Given the description of an element on the screen output the (x, y) to click on. 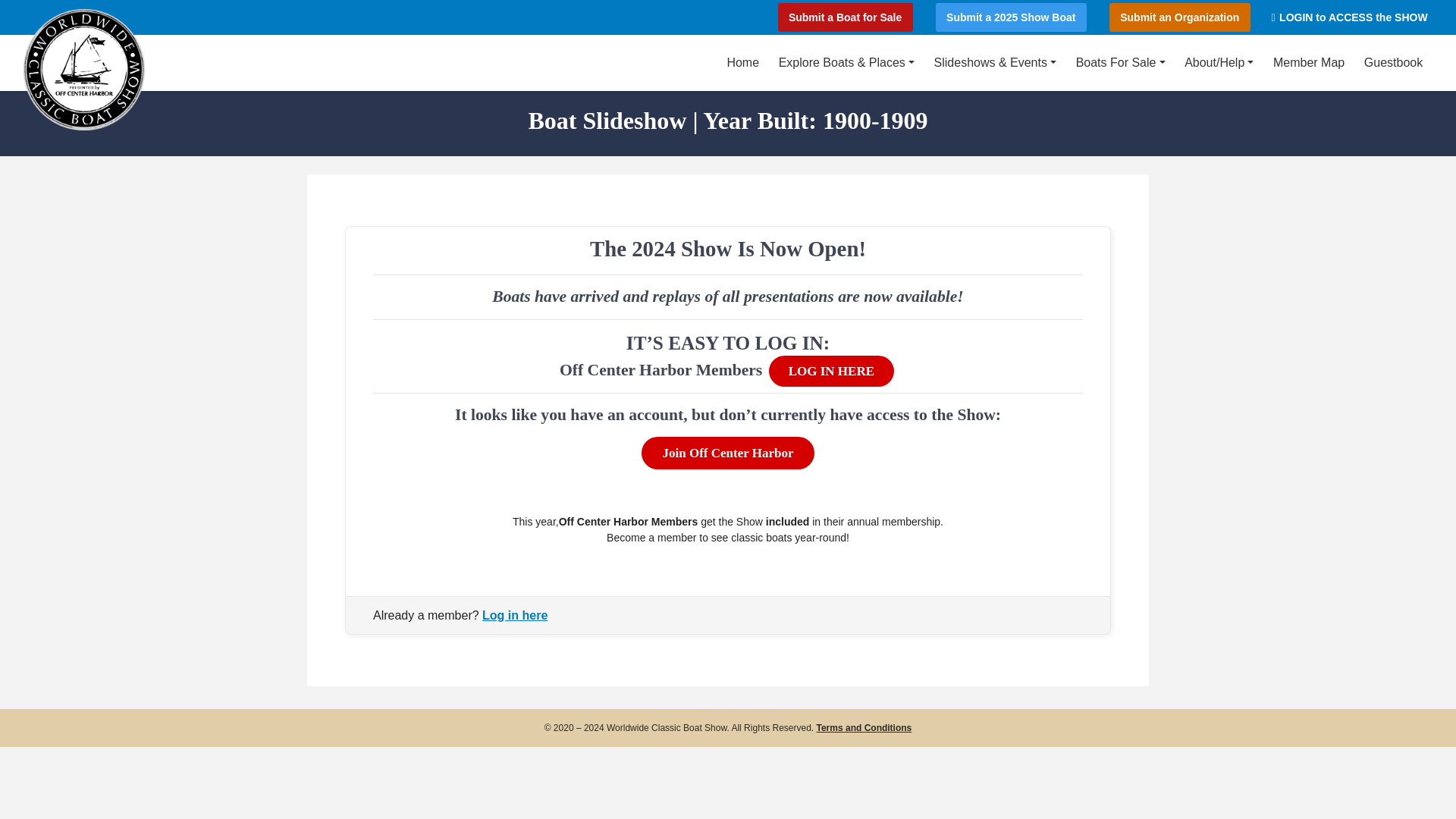
LOGIN to ACCESS the SHOW (1349, 17)
Submit an Organization (1181, 17)
 LOGIN to ACCESS the SHOW (1349, 17)
Submit a Boat for Sale (848, 17)
Submit a 2025 Show Boat (1013, 17)
Submit a Boat for Sale (848, 17)
Home (742, 62)
Home (742, 62)
Submit a 2025 Show Boat (1013, 17)
Submit an Organization (1181, 17)
